Given the description of an element on the screen output the (x, y) to click on. 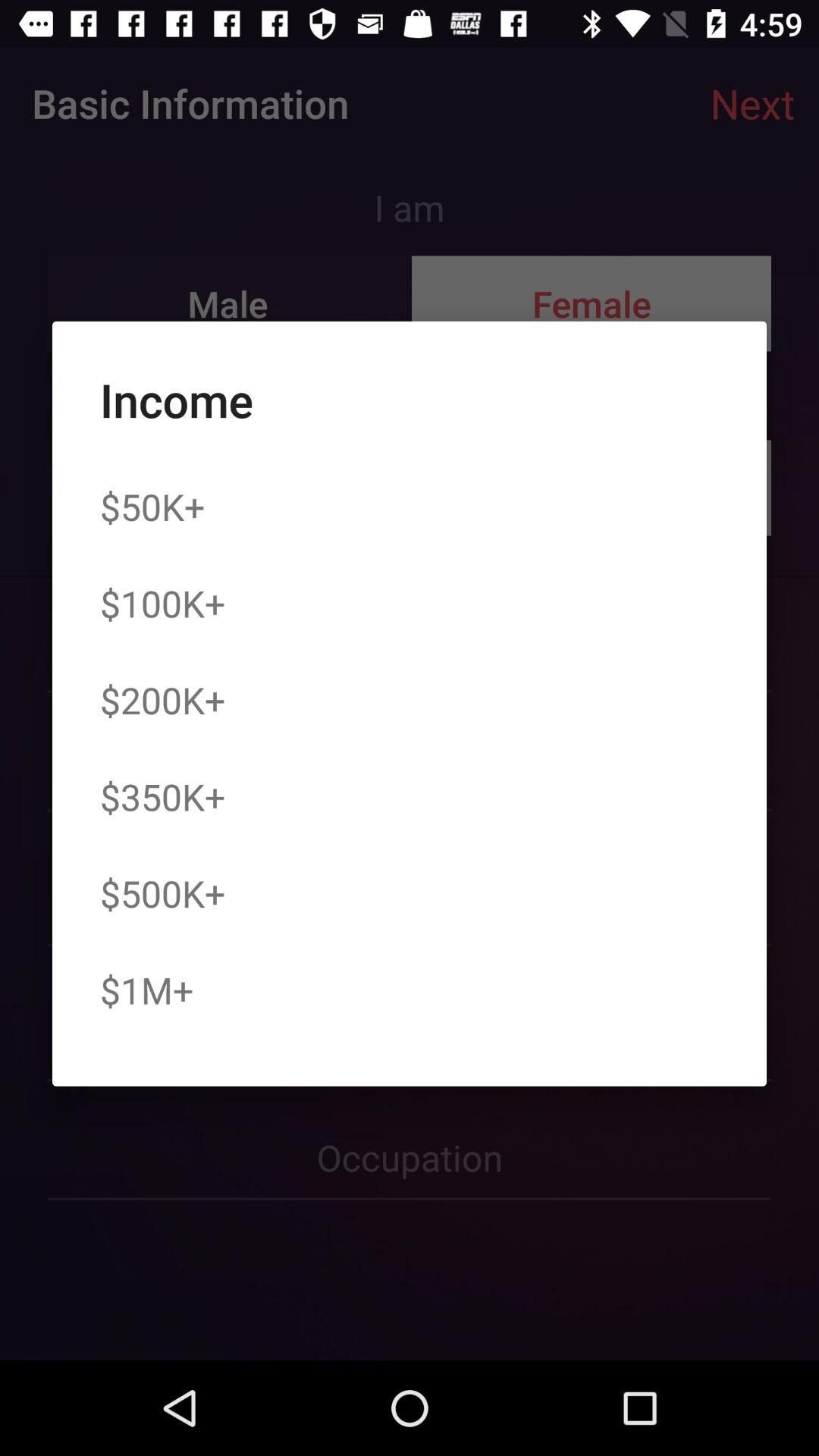
tap the $100k+ icon (162, 603)
